Given the description of an element on the screen output the (x, y) to click on. 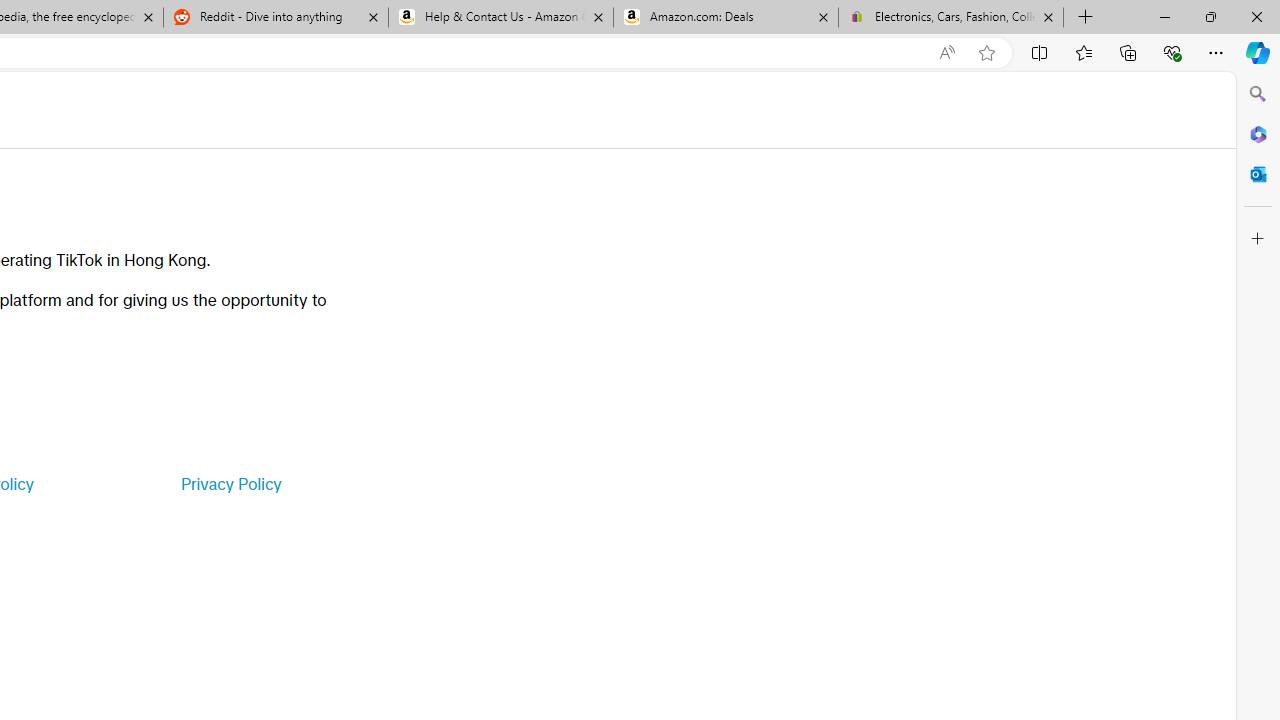
Privacy Policy (230, 484)
